Given the description of an element on the screen output the (x, y) to click on. 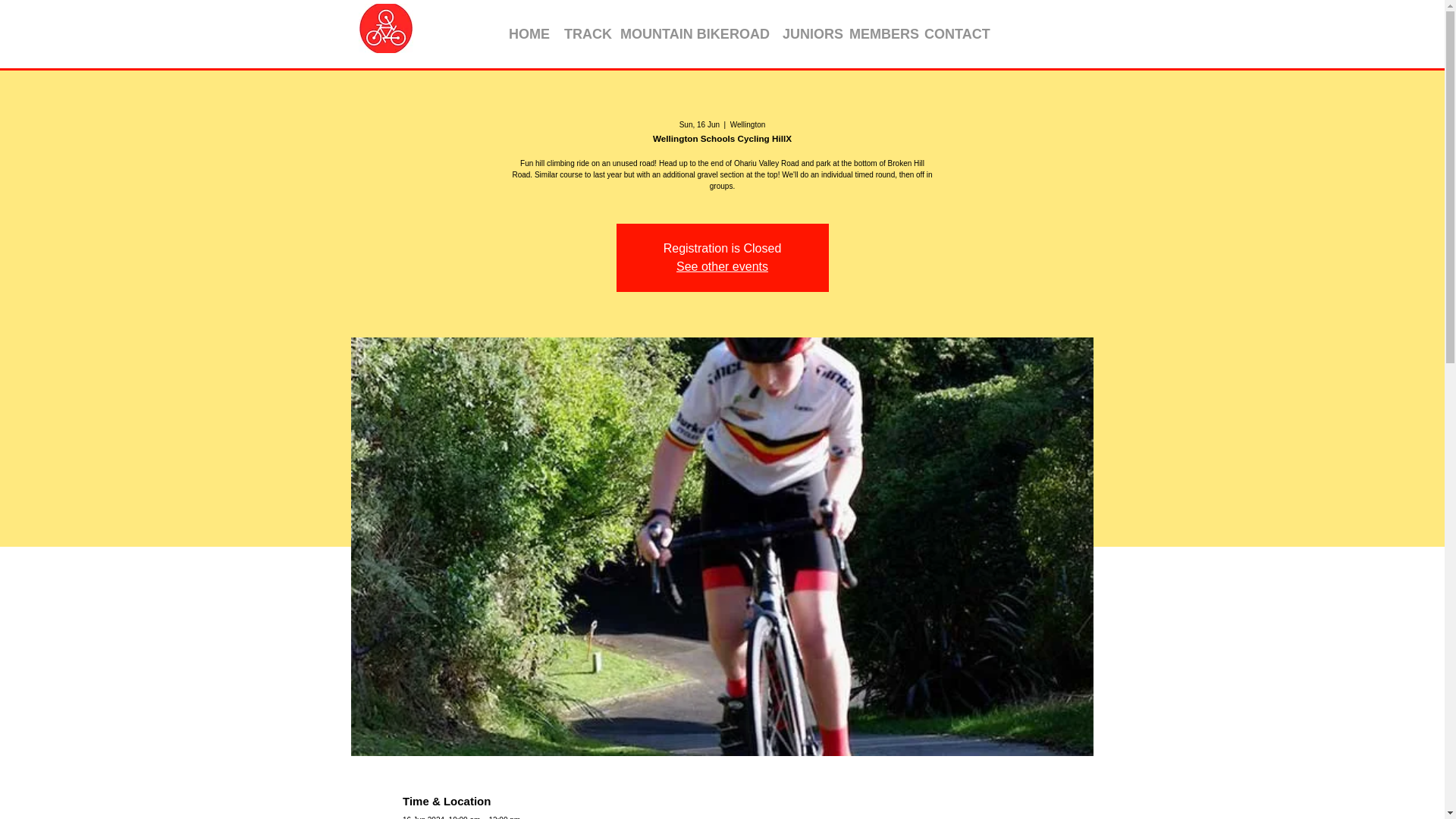
Red Logo.jpg (385, 28)
CONTACT (948, 34)
See other events (722, 266)
ROAD (744, 34)
JUNIORS (804, 34)
MEMBERS (875, 34)
MOUNTAIN BIKE (662, 34)
HOME (525, 34)
TRACK (580, 34)
